Given the description of an element on the screen output the (x, y) to click on. 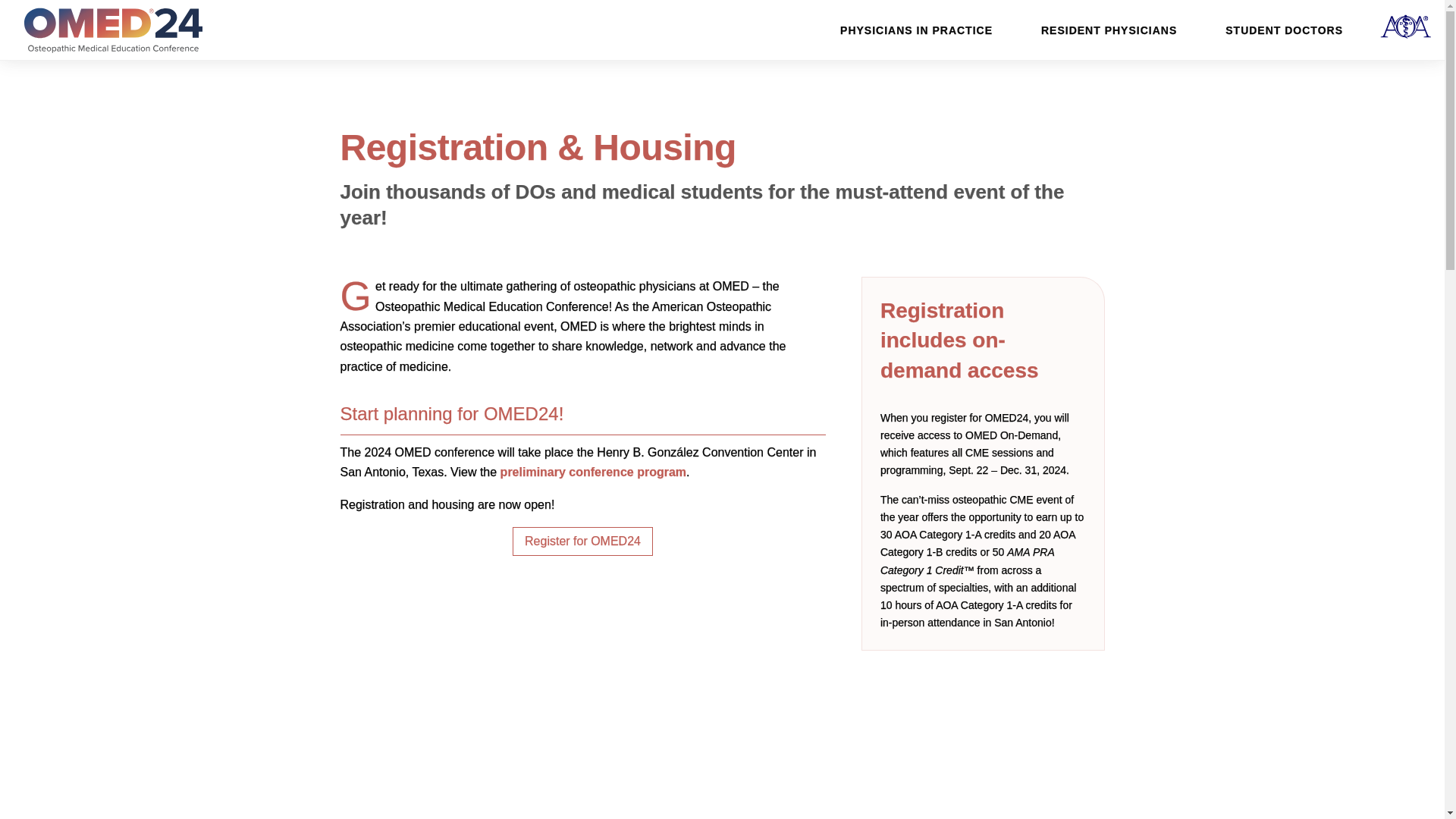
PHYSICIANS IN PRACTICE (915, 29)
Register for OMED24 (582, 541)
STUDENT DOCTORS (1284, 29)
preliminary conference program (592, 472)
RESIDENT PHYSICIANS (1108, 29)
